Given the description of an element on the screen output the (x, y) to click on. 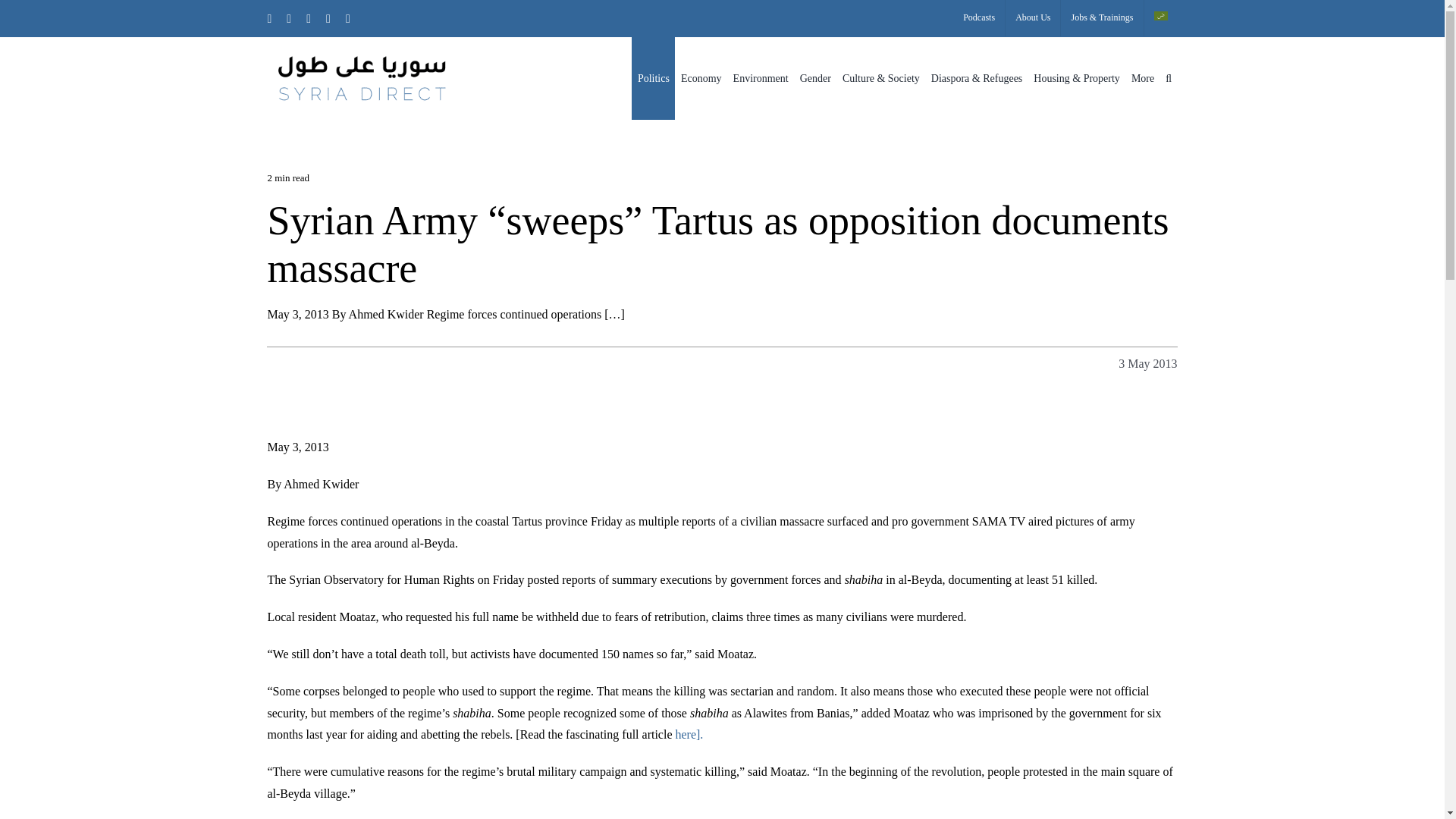
About Us (1032, 18)
Podcasts (978, 18)
